Given the description of an element on the screen output the (x, y) to click on. 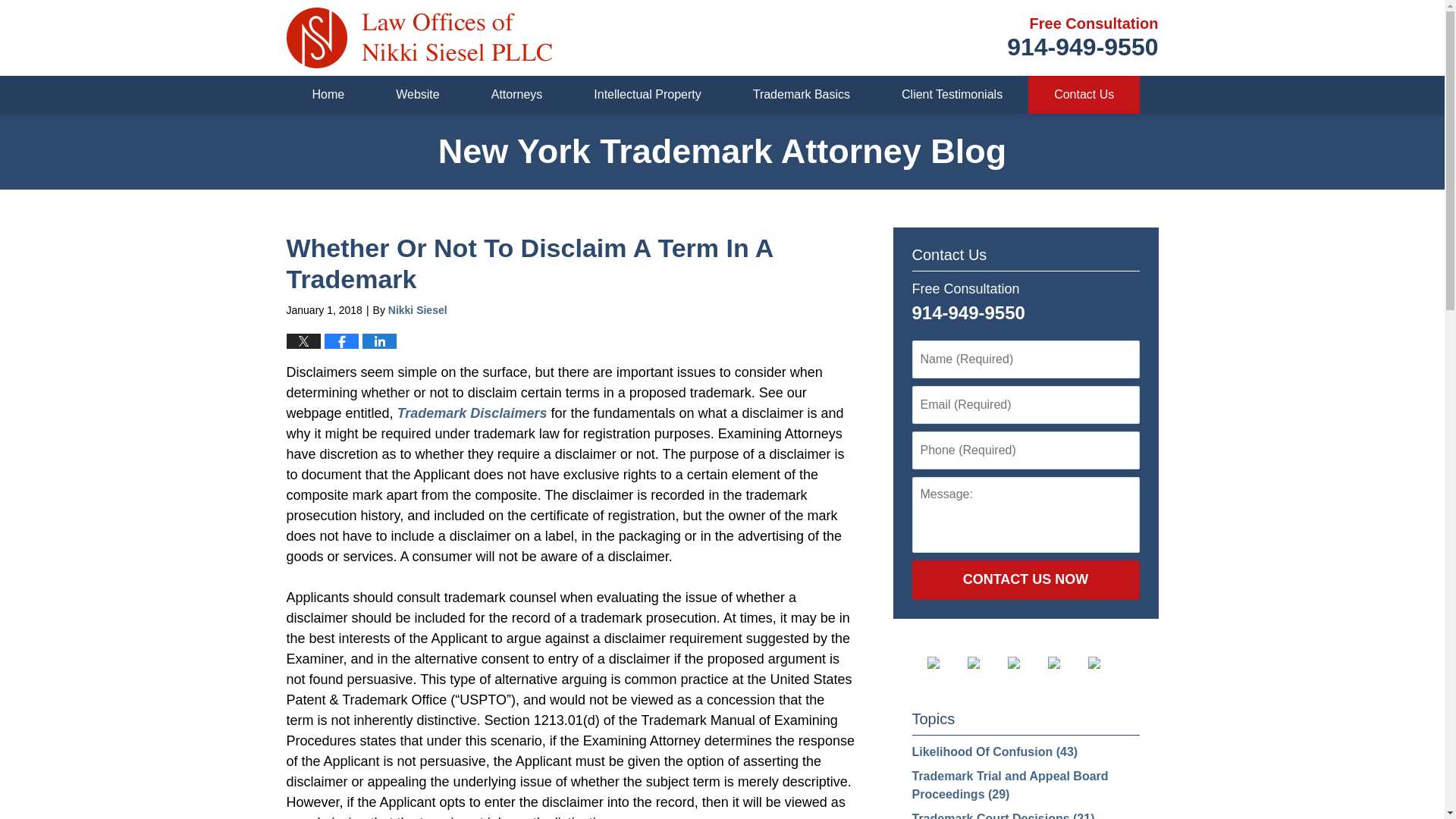
Please enter a valid phone number. (1024, 450)
CONTACT US NOW (1024, 579)
LinkedIn (1025, 662)
Contact Us (1082, 37)
Intellectual Property (1083, 94)
Attorneys (646, 94)
Twitter (517, 94)
Website (986, 662)
Client Testimonials (417, 94)
